Given the description of an element on the screen output the (x, y) to click on. 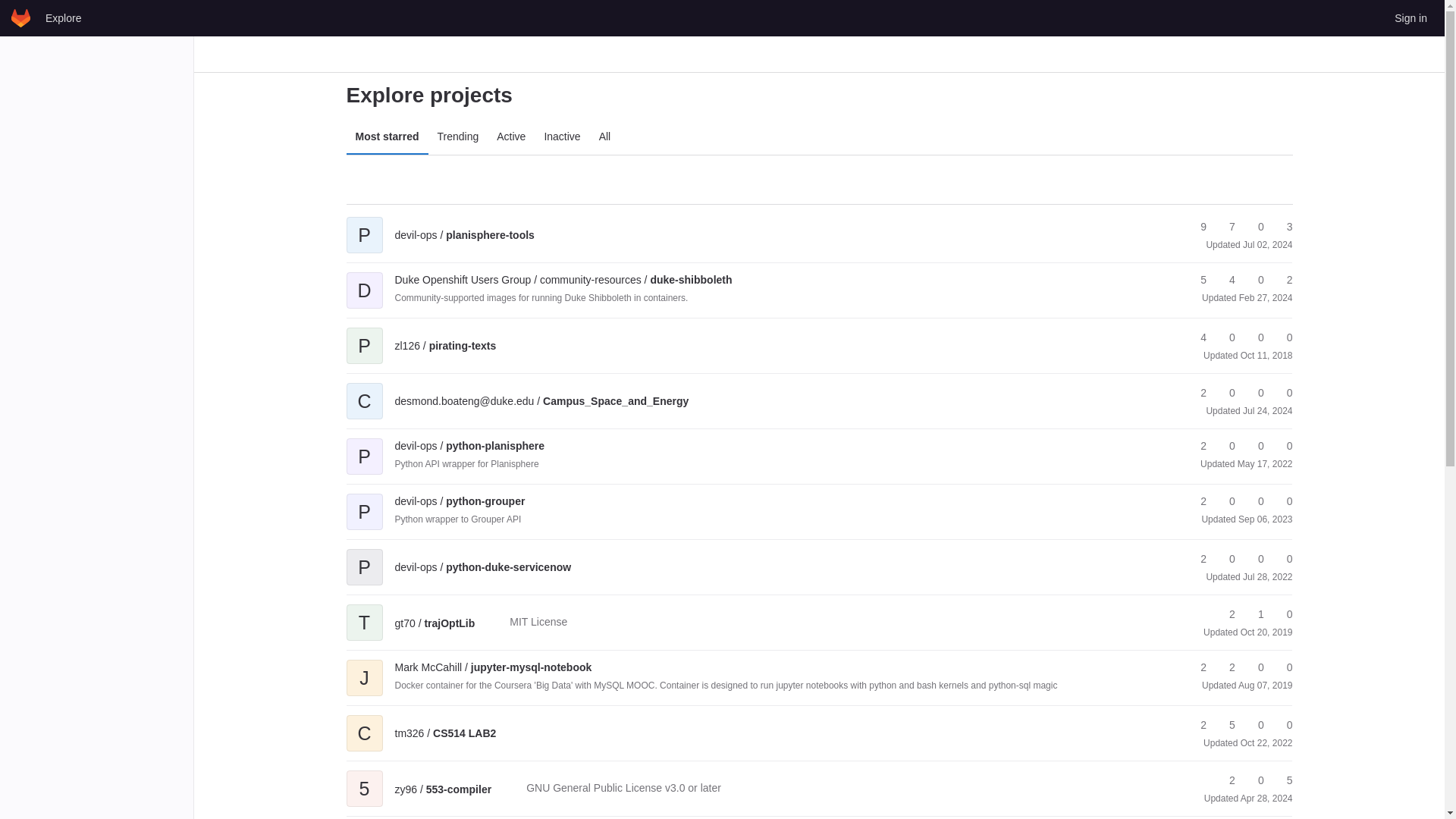
0 (1224, 392)
Stars (1196, 227)
7 (1224, 227)
planisphere-tools (464, 234)
Most starred (387, 135)
3 (1282, 227)
0 (1282, 337)
Inactive (561, 135)
P (363, 445)
C (363, 390)
Issues (1282, 227)
Homepage (20, 17)
duke-shibboleth (563, 279)
0 (1253, 337)
Active (510, 135)
